Given the description of an element on the screen output the (x, y) to click on. 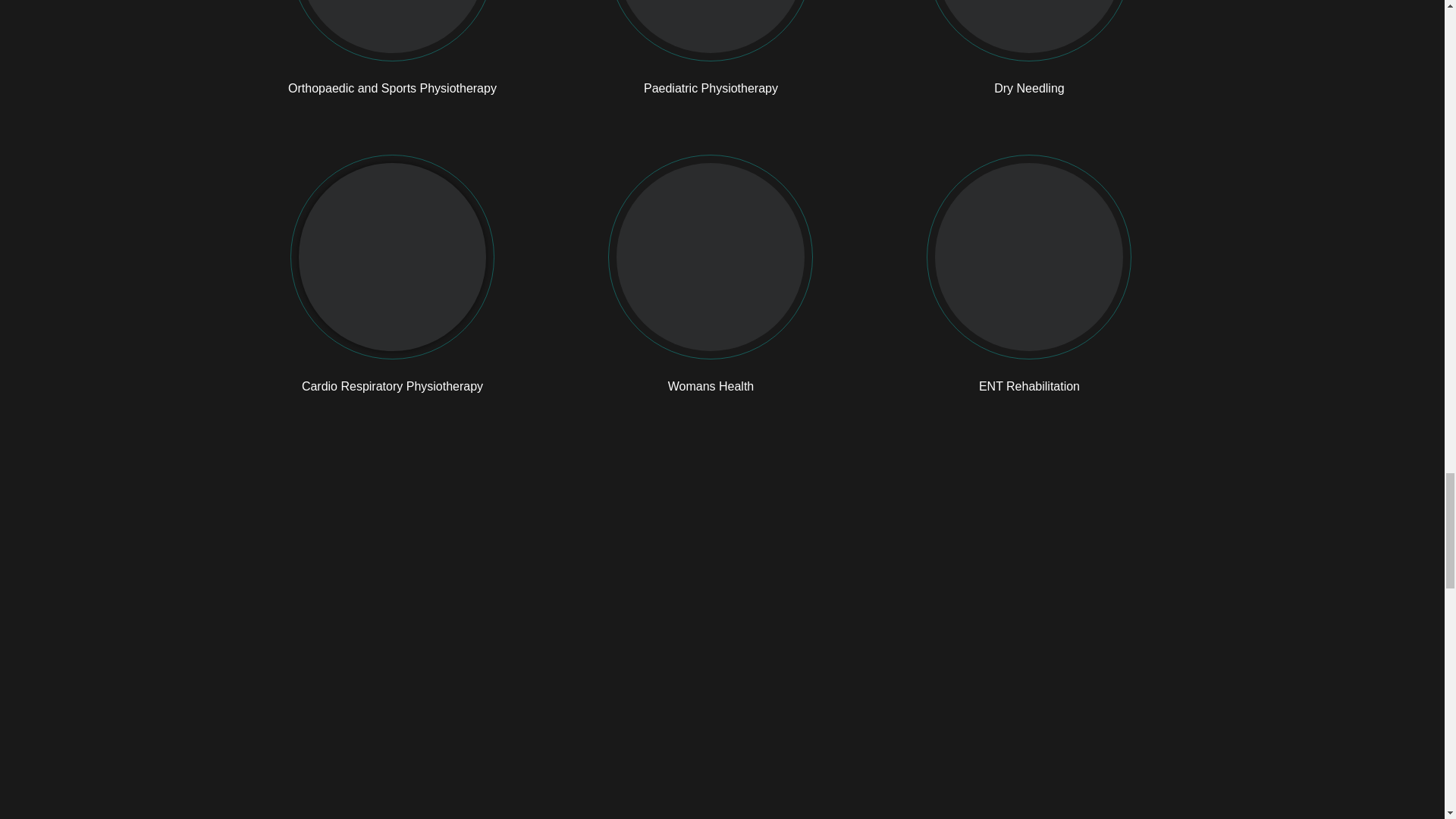
ENT Rehabilitation (1029, 386)
Womans Health (711, 386)
Orthopaedic and Sports Physiotherapy (392, 88)
Dry Needling (1029, 88)
Paediatric Physiotherapy (710, 88)
Cardio Respiratory Physiotherapy (392, 386)
